Given the description of an element on the screen output the (x, y) to click on. 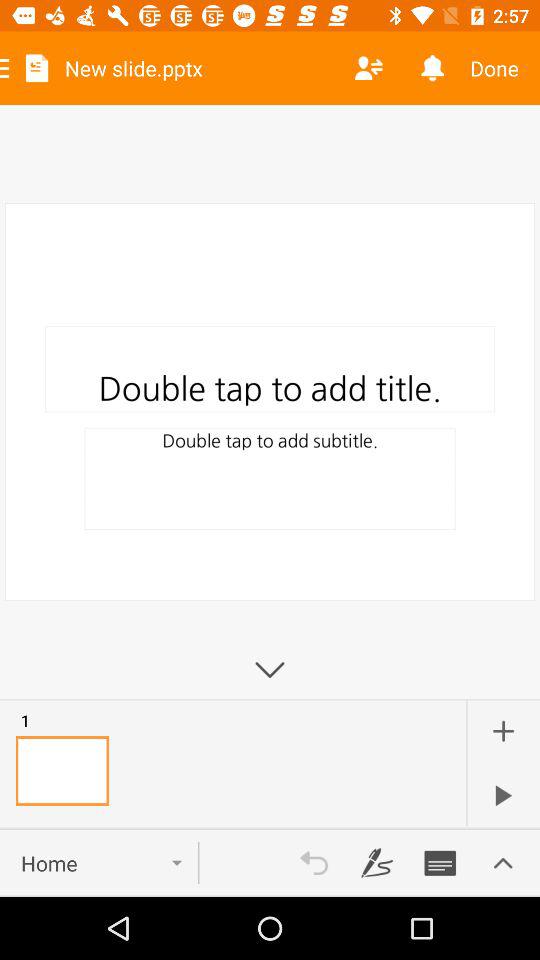
to write text for title (440, 863)
